Given the description of an element on the screen output the (x, y) to click on. 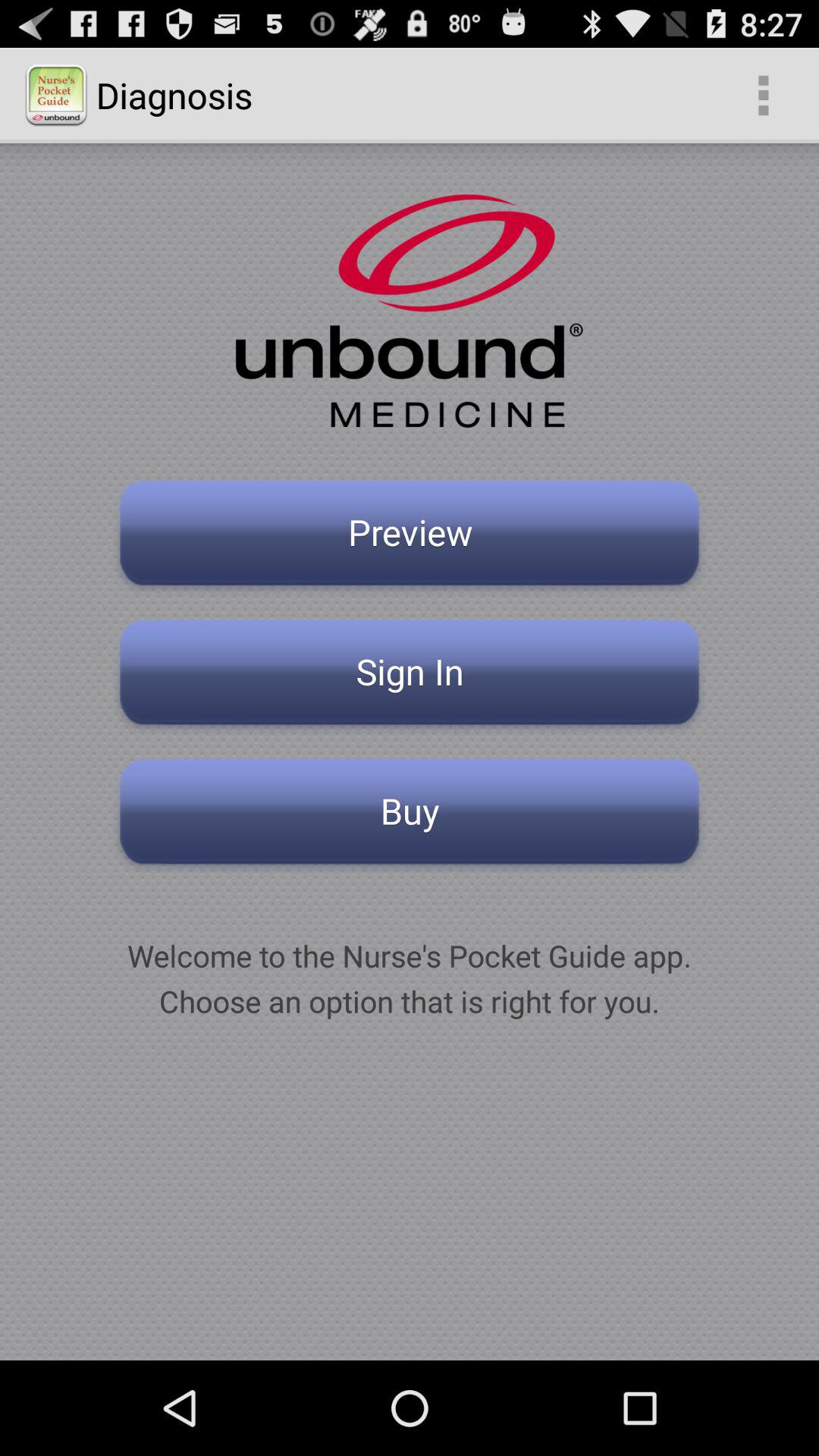
press item above the welcome to the icon (409, 815)
